Given the description of an element on the screen output the (x, y) to click on. 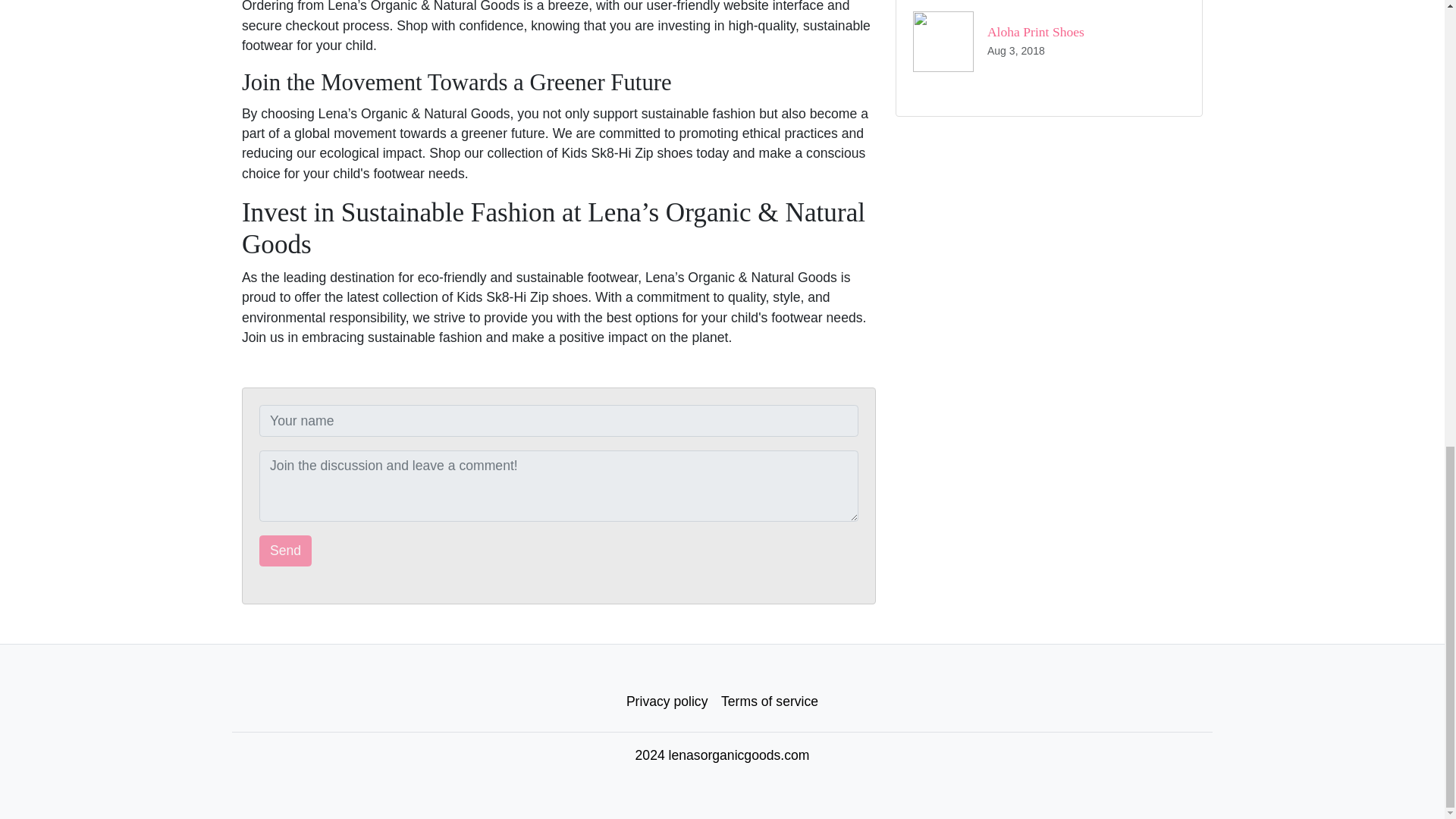
Send (285, 551)
Privacy policy (667, 701)
Terms of service (769, 701)
Send (1048, 42)
